Given the description of an element on the screen output the (x, y) to click on. 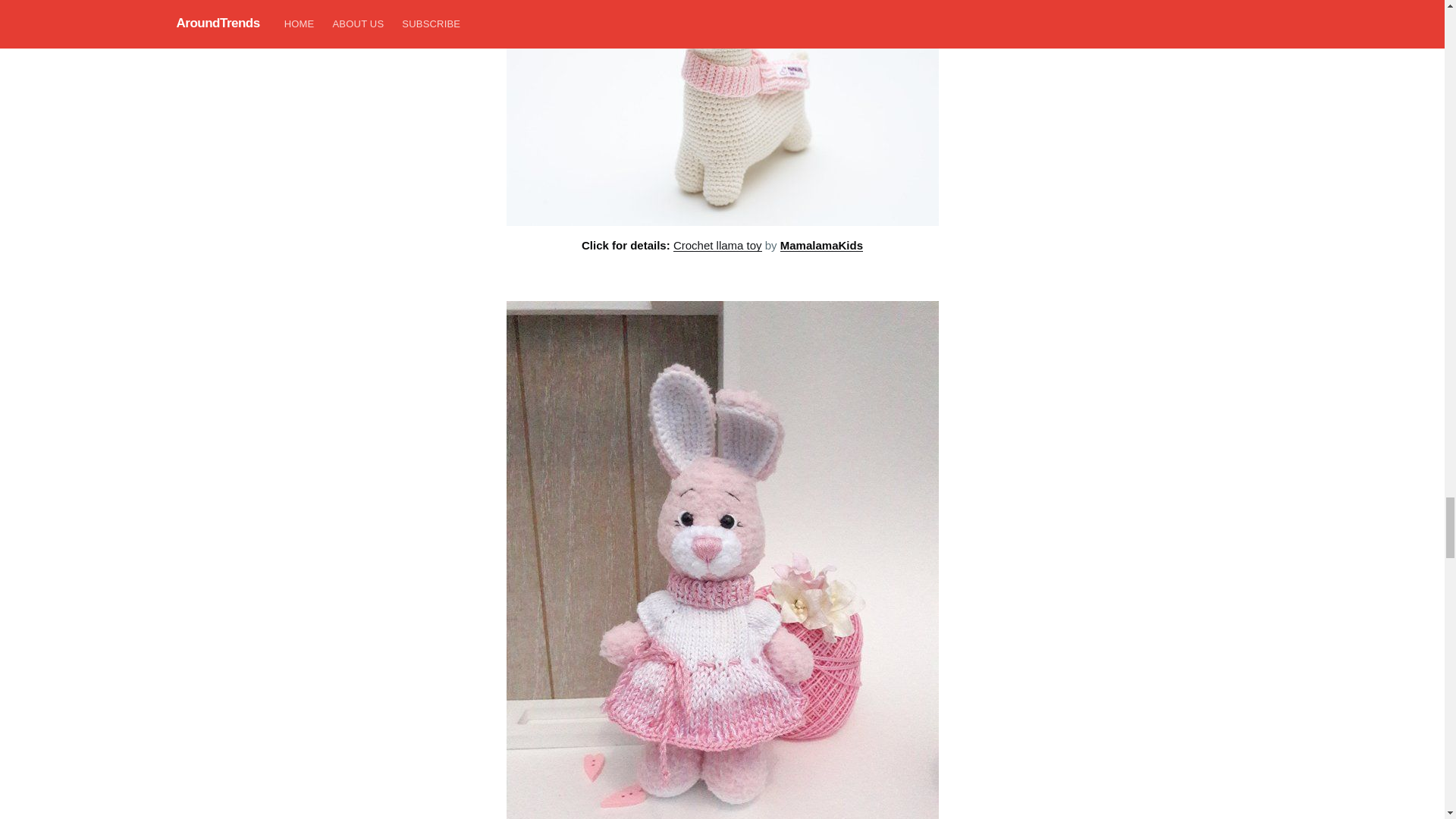
Crochet llama toy (716, 245)
MamalamaKids (821, 245)
